Given the description of an element on the screen output the (x, y) to click on. 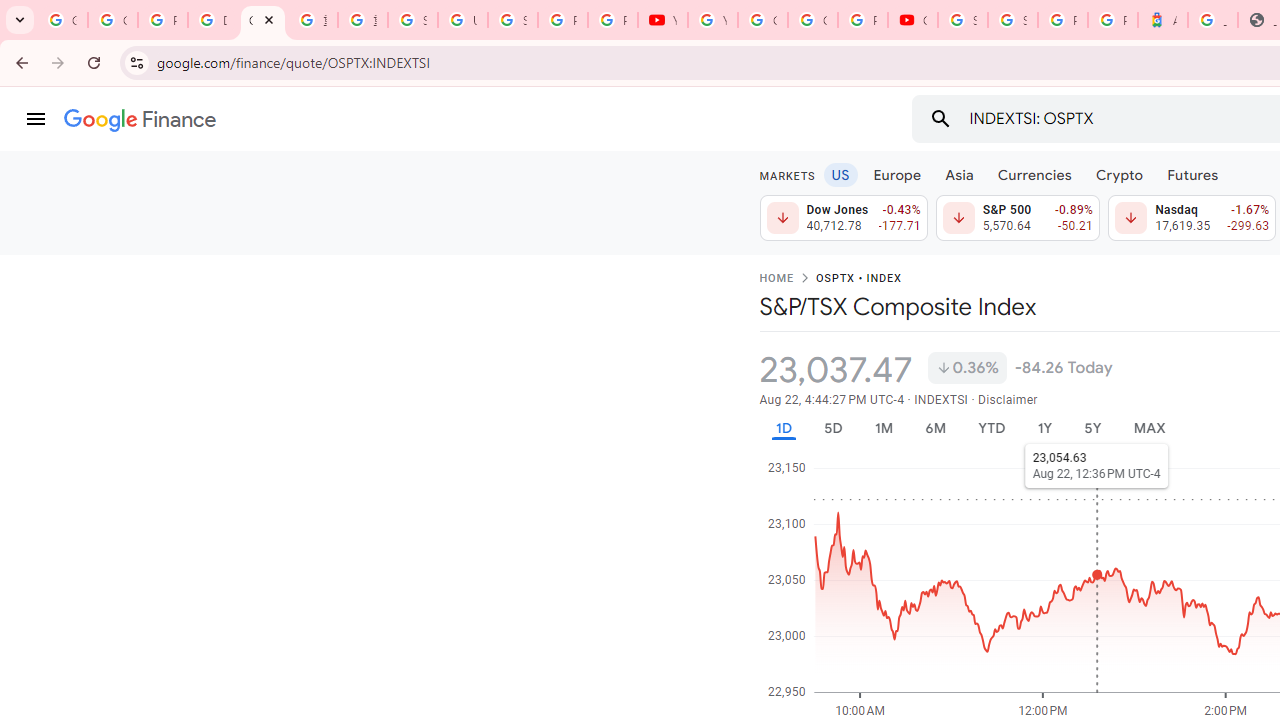
1D (783, 427)
6M (934, 427)
Dow Jones 40,712.78 Down by 0.43% -177.71 (843, 218)
Crypto (1119, 174)
MAX (1149, 427)
Atour Hotel - Google hotels (1162, 20)
Europe (897, 174)
